Given the description of an element on the screen output the (x, y) to click on. 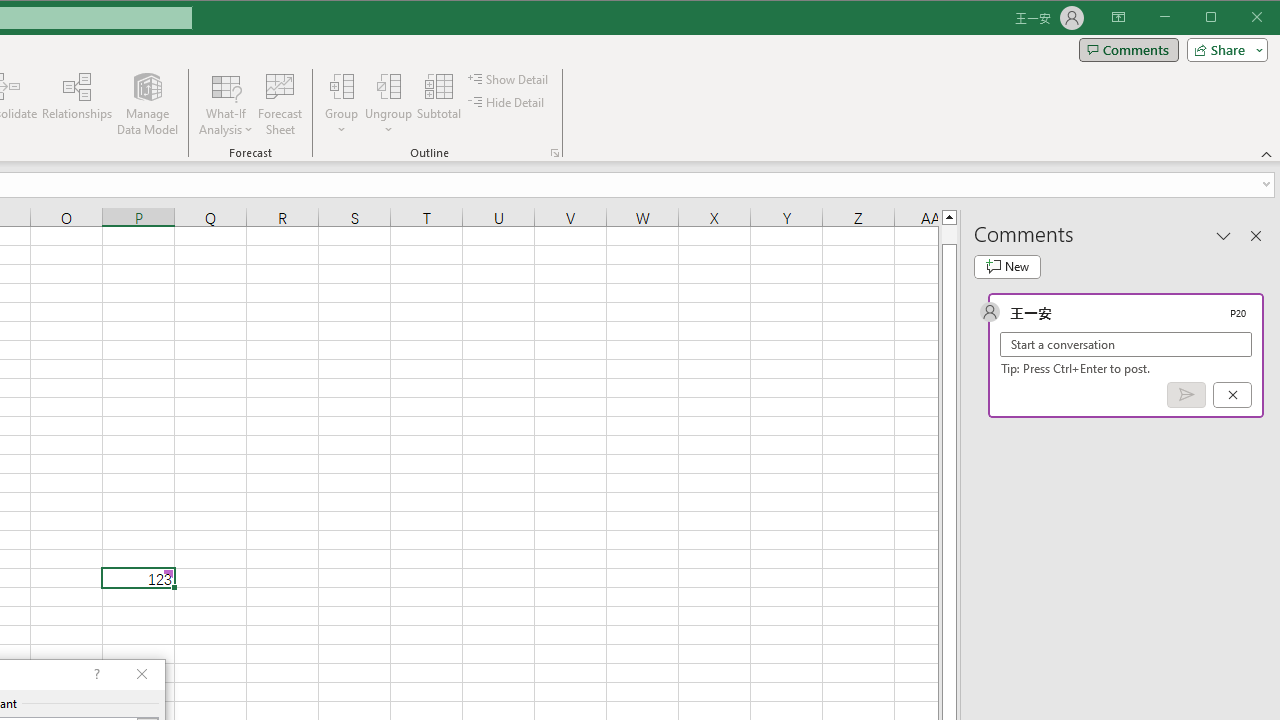
Subtotal (438, 104)
Forecast Sheet (280, 104)
What-If Analysis (226, 104)
Manage Data Model (147, 104)
Hide Detail (506, 101)
Relationships (77, 104)
Maximize (1239, 18)
